Given the description of an element on the screen output the (x, y) to click on. 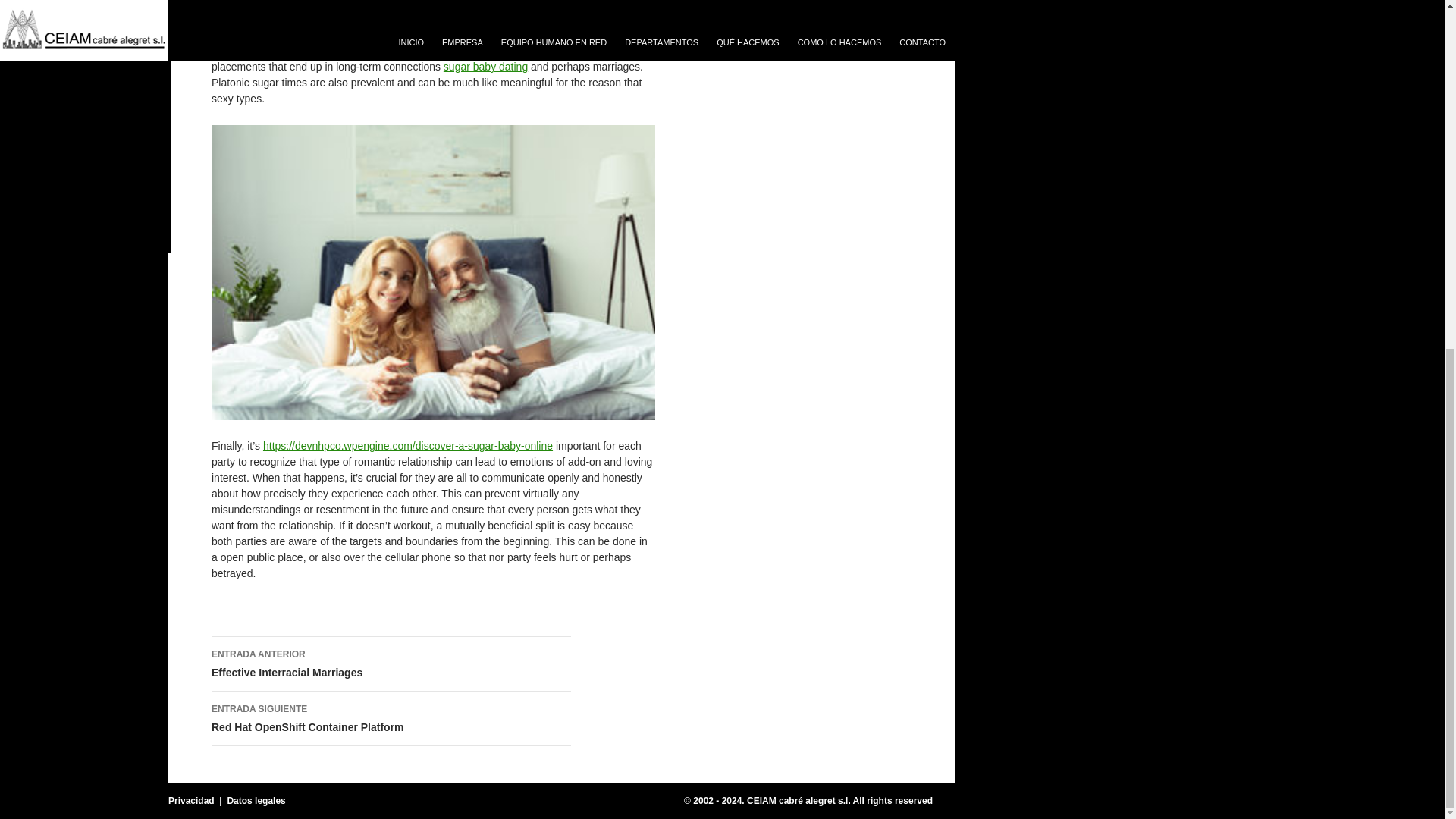
Datos legales (390, 664)
Privacidad (256, 800)
sugar baby dating (390, 718)
